Given the description of an element on the screen output the (x, y) to click on. 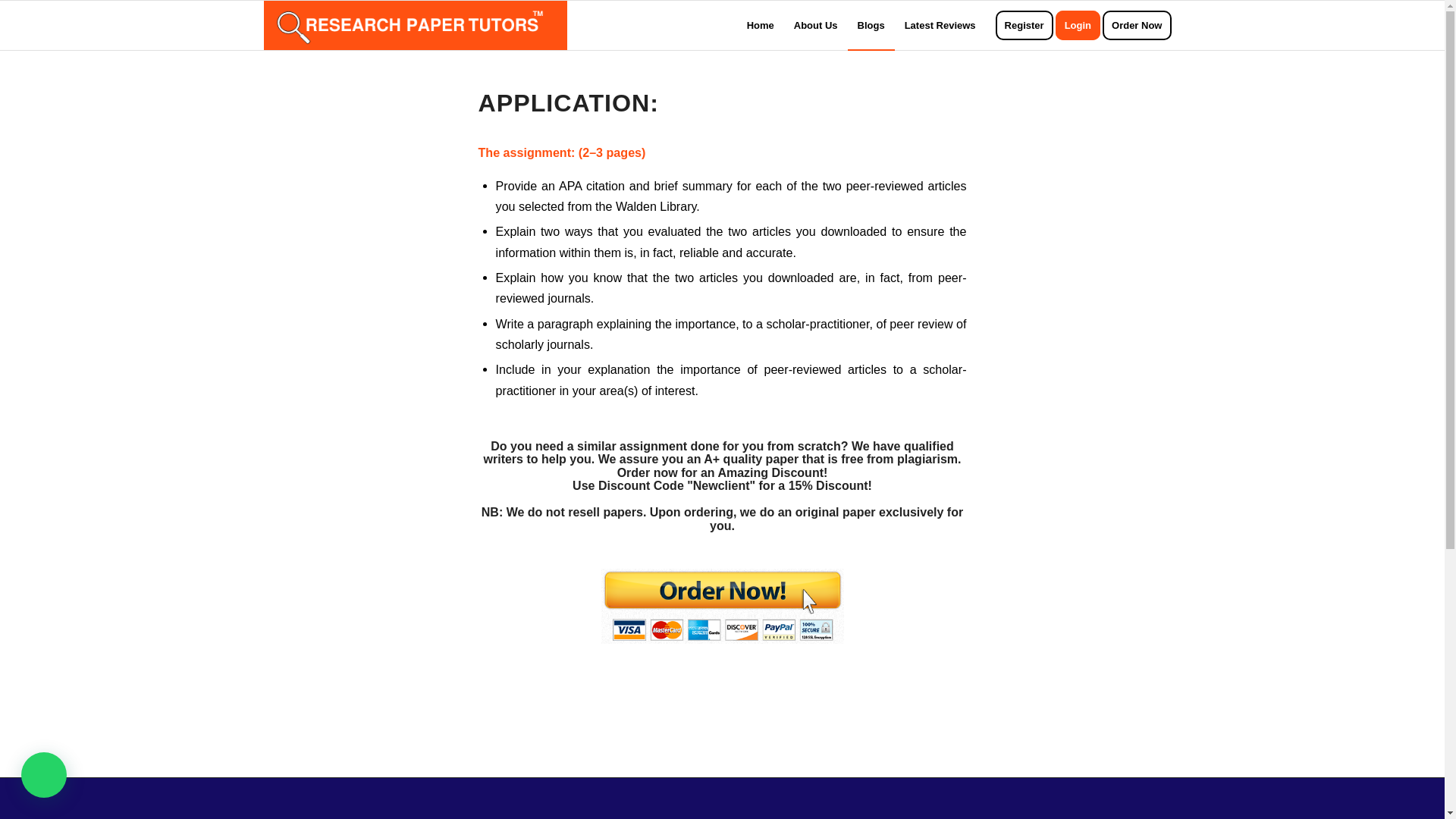
Login (1082, 24)
Blogs (871, 24)
Latest Reviews (940, 24)
Order Now (1141, 24)
About Us (815, 24)
Home (760, 24)
Register (1023, 24)
